Given the description of an element on the screen output the (x, y) to click on. 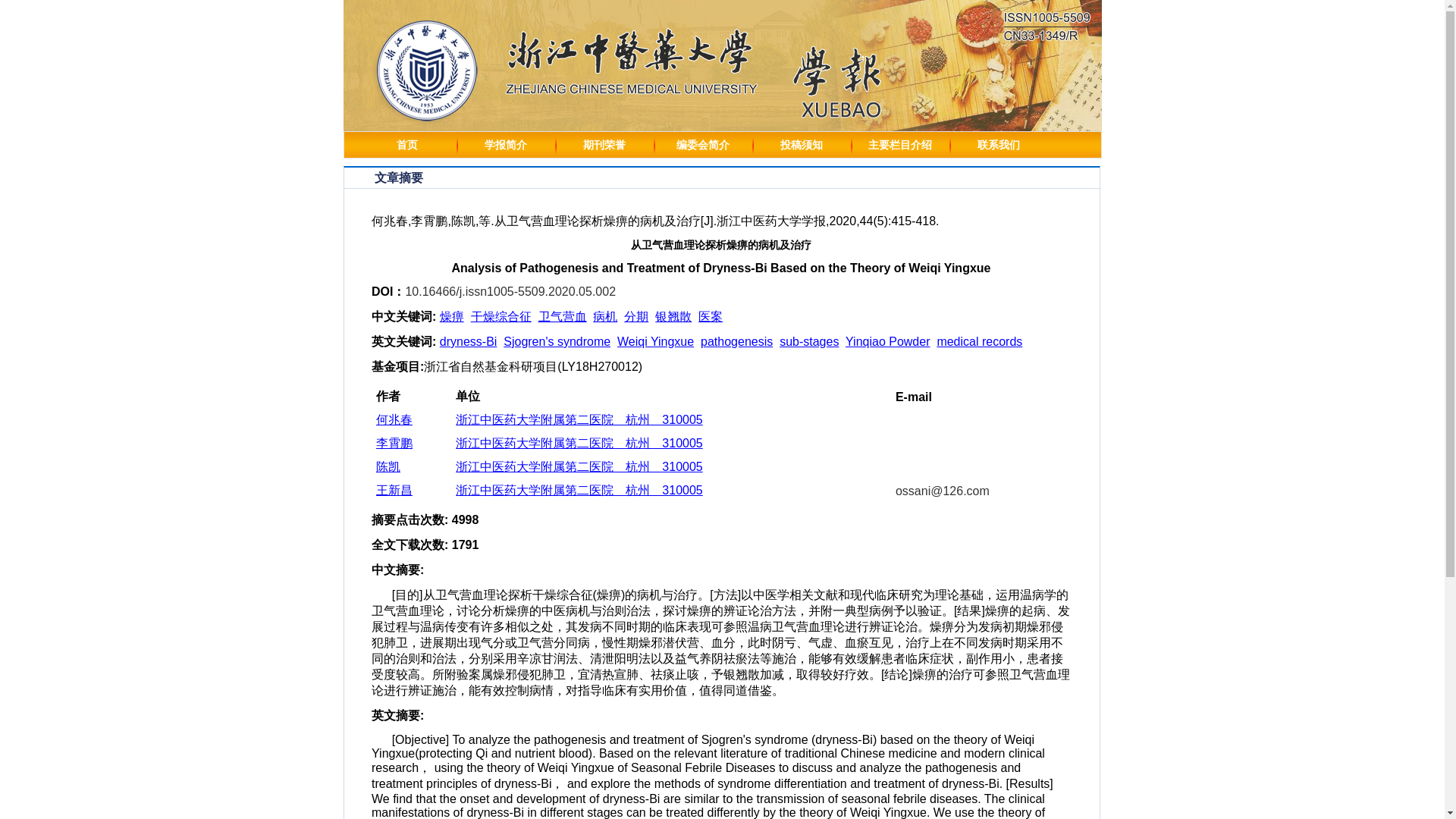
Sjogren's syndrome (556, 341)
Yinqiao Powder (887, 341)
Weiqi Yingxue (655, 341)
sub-stages (808, 341)
pathogenesis (736, 341)
dryness-Bi (468, 341)
medical records (979, 341)
